Given the description of an element on the screen output the (x, y) to click on. 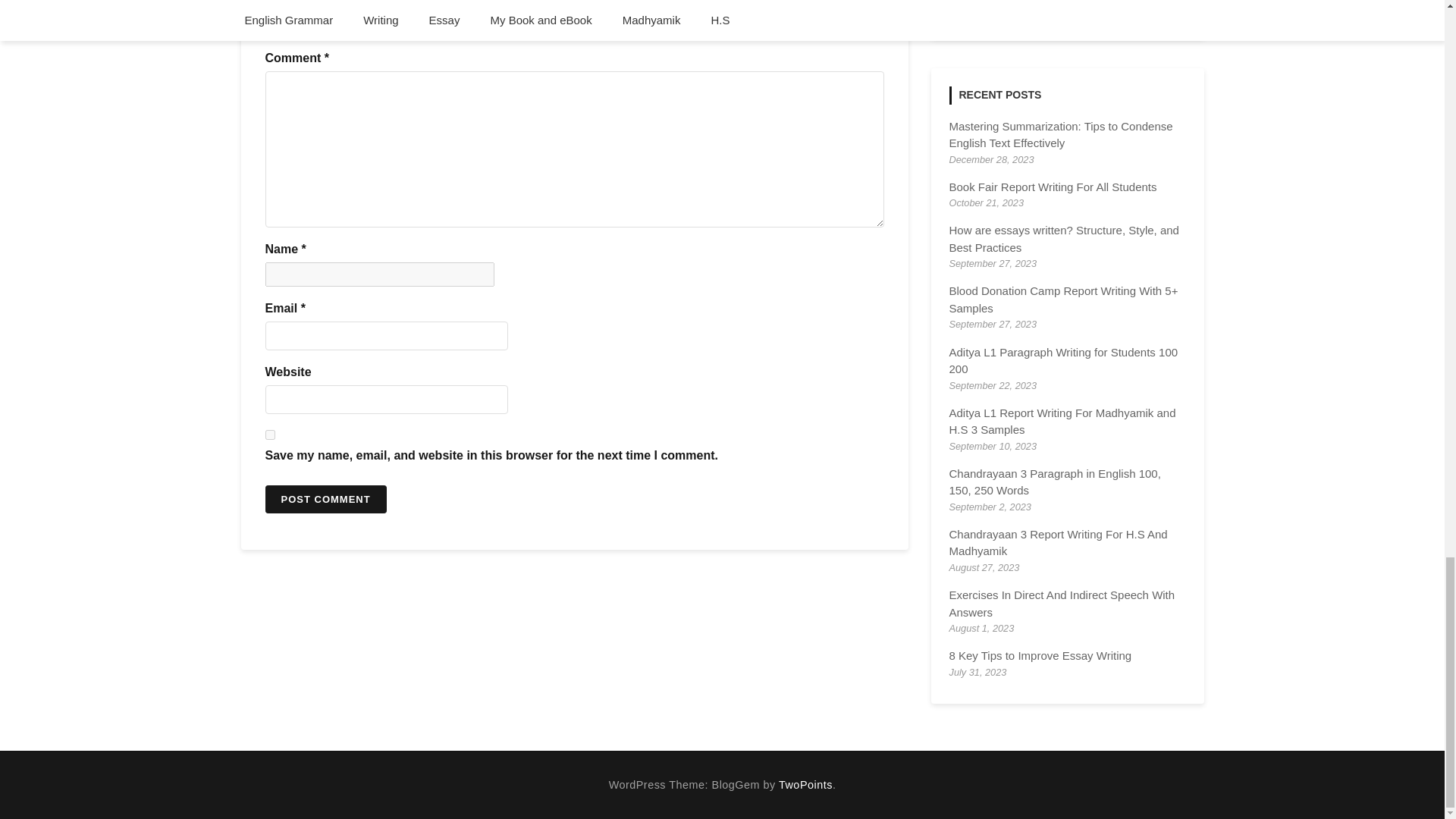
Post Comment (325, 499)
yes (269, 434)
